Given the description of an element on the screen output the (x, y) to click on. 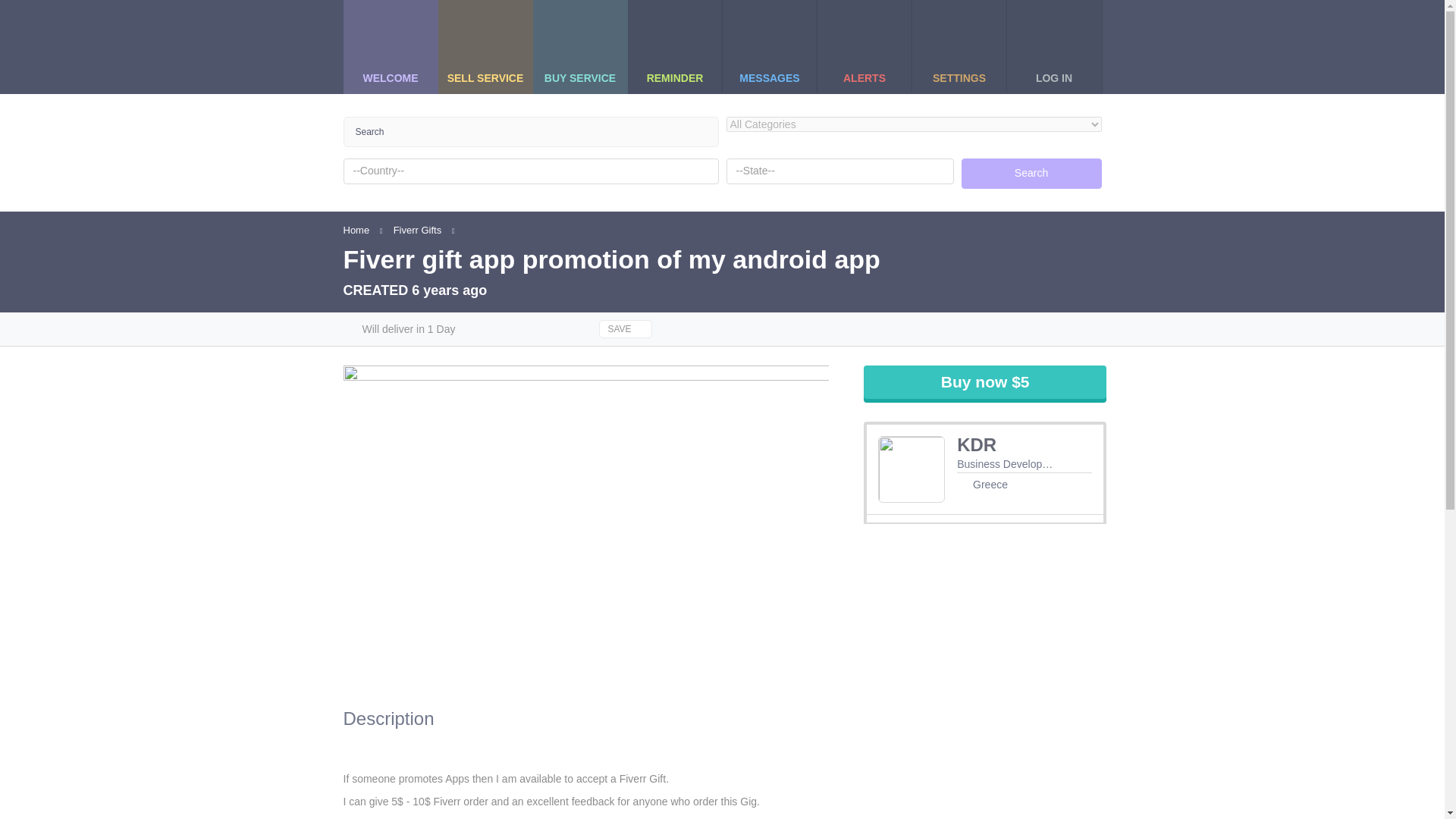
SAVE (625, 329)
ALERTS (863, 47)
WELCOME (390, 47)
MESSAGES (769, 47)
Fiverr Gifts (417, 229)
LOG IN (1053, 47)
SETTINGS (959, 47)
REMINDER (673, 47)
Search (1031, 173)
SELL SERVICE (484, 47)
